Given the description of an element on the screen output the (x, y) to click on. 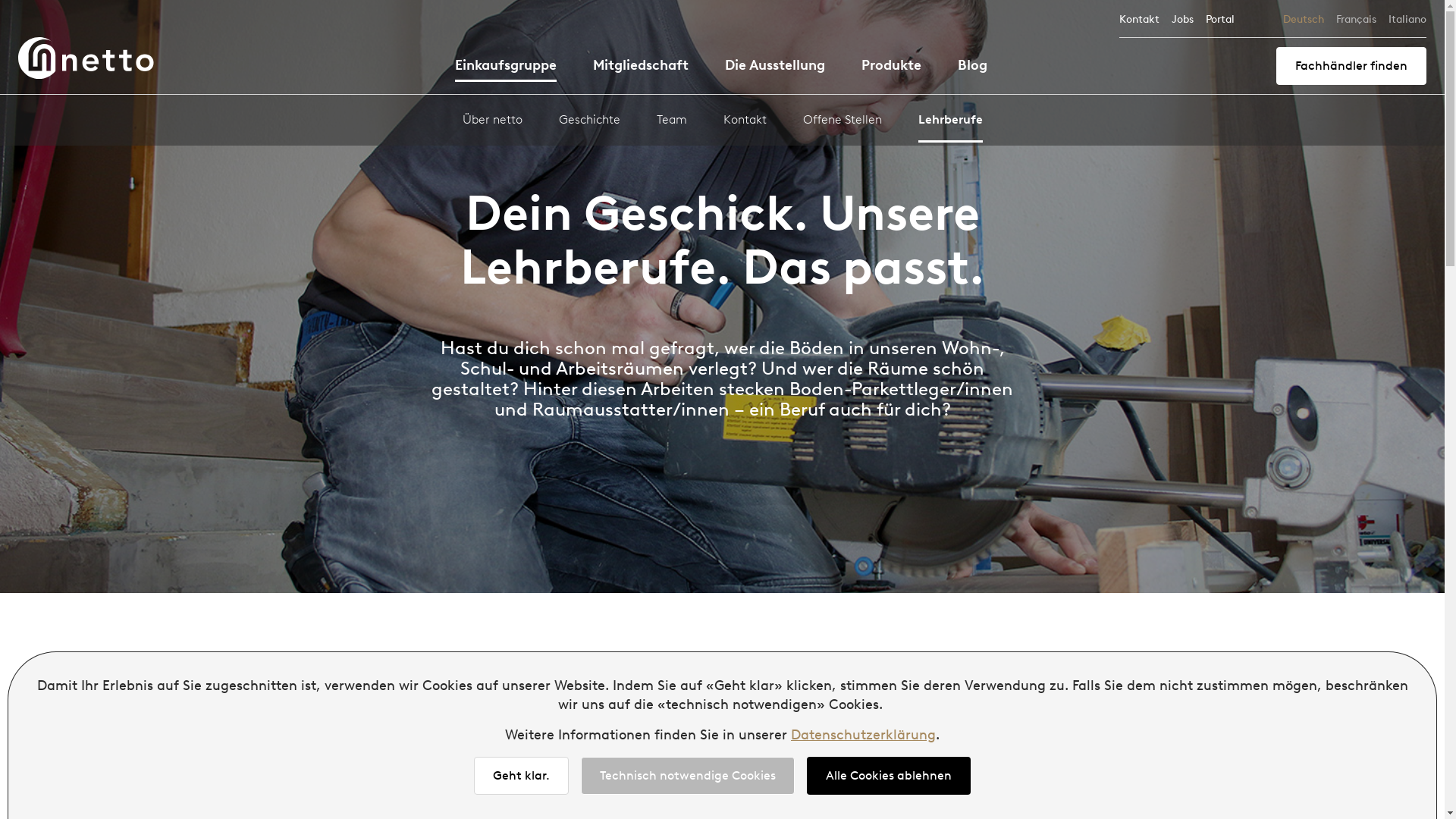
Portal Element type: text (1219, 18)
Einkaufsgruppe Element type: text (505, 68)
Jobs Element type: text (1182, 18)
Technisch notwendige Cookies Element type: text (687, 775)
Team Element type: text (671, 125)
Offene Stellen Element type: text (841, 125)
Mitgliedschaft Element type: text (640, 67)
Italiano Element type: text (1407, 18)
Kontakt Element type: text (744, 125)
Die Ausstellung Element type: text (774, 67)
Geschichte Element type: text (588, 125)
Produkte Element type: text (891, 67)
Lehrberufe Element type: text (949, 126)
Geht klar. Element type: text (520, 775)
Alle Cookies ablehnen Element type: text (888, 775)
Kontakt Element type: text (1139, 18)
Blog Element type: text (972, 67)
Deutsch Element type: text (1303, 18)
